Given the description of an element on the screen output the (x, y) to click on. 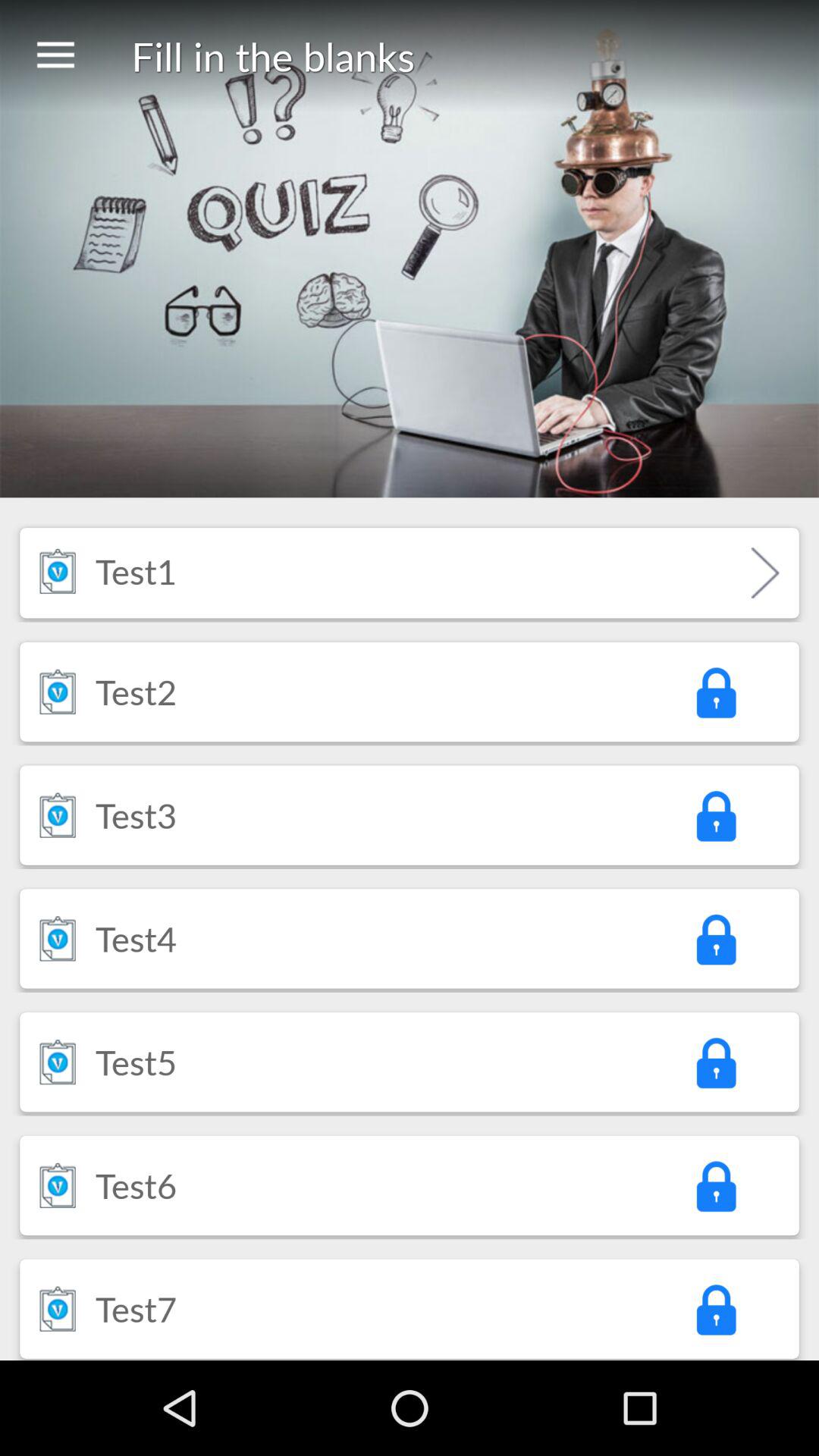
launch icon below the test2 (135, 814)
